Given the description of an element on the screen output the (x, y) to click on. 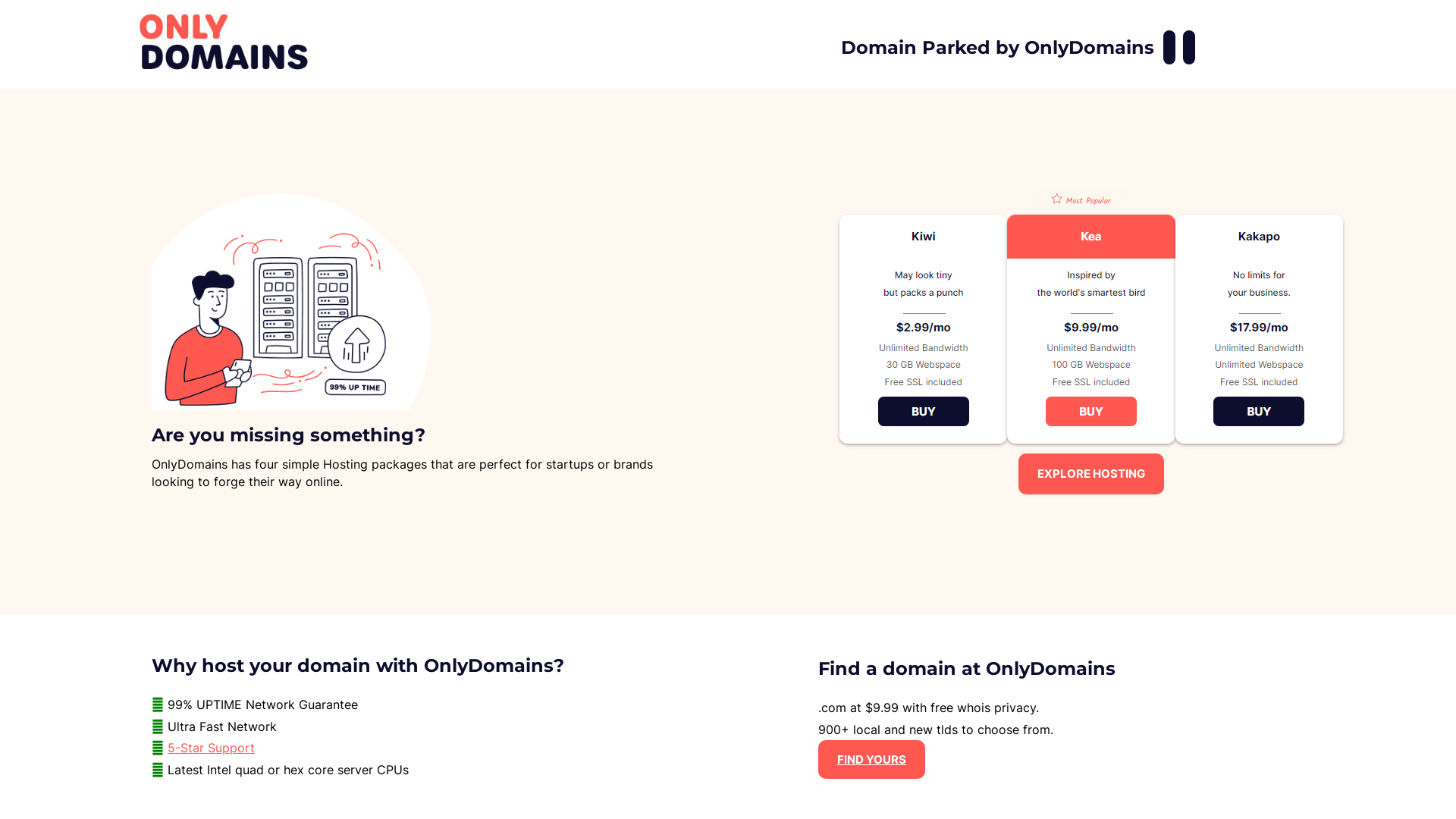
OnlyDomains Facebook Element type: hover (1169, 47)
5-Star Support Element type: text (210, 747)
EXPLORE HOSTING Element type: text (1091, 473)
FIND YOURS Element type: text (871, 759)
OnlyDomains Twitter Element type: hover (1188, 47)
